Given the description of an element on the screen output the (x, y) to click on. 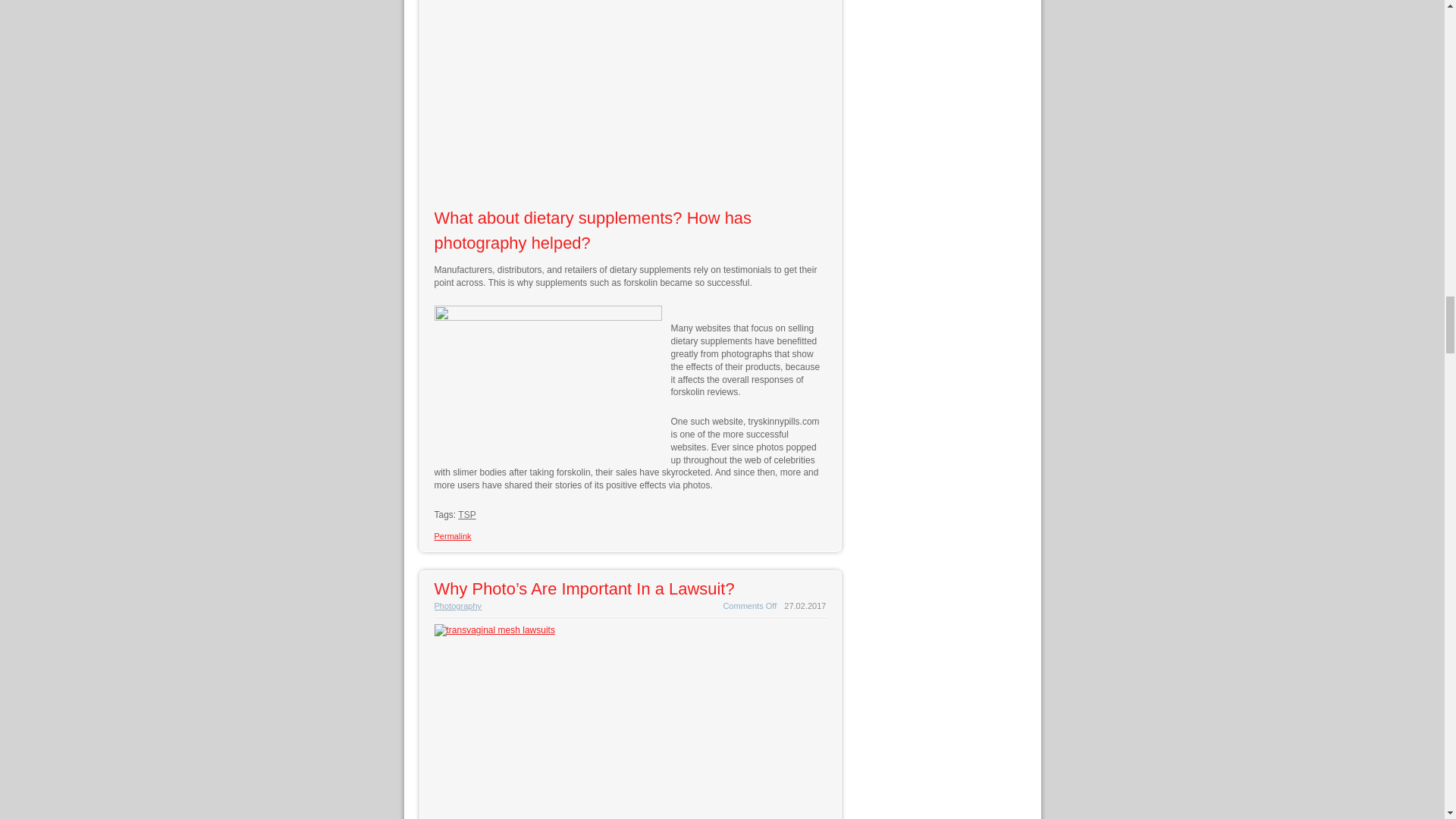
Permalink (451, 535)
TSP (467, 514)
Photography (457, 605)
